Given the description of an element on the screen output the (x, y) to click on. 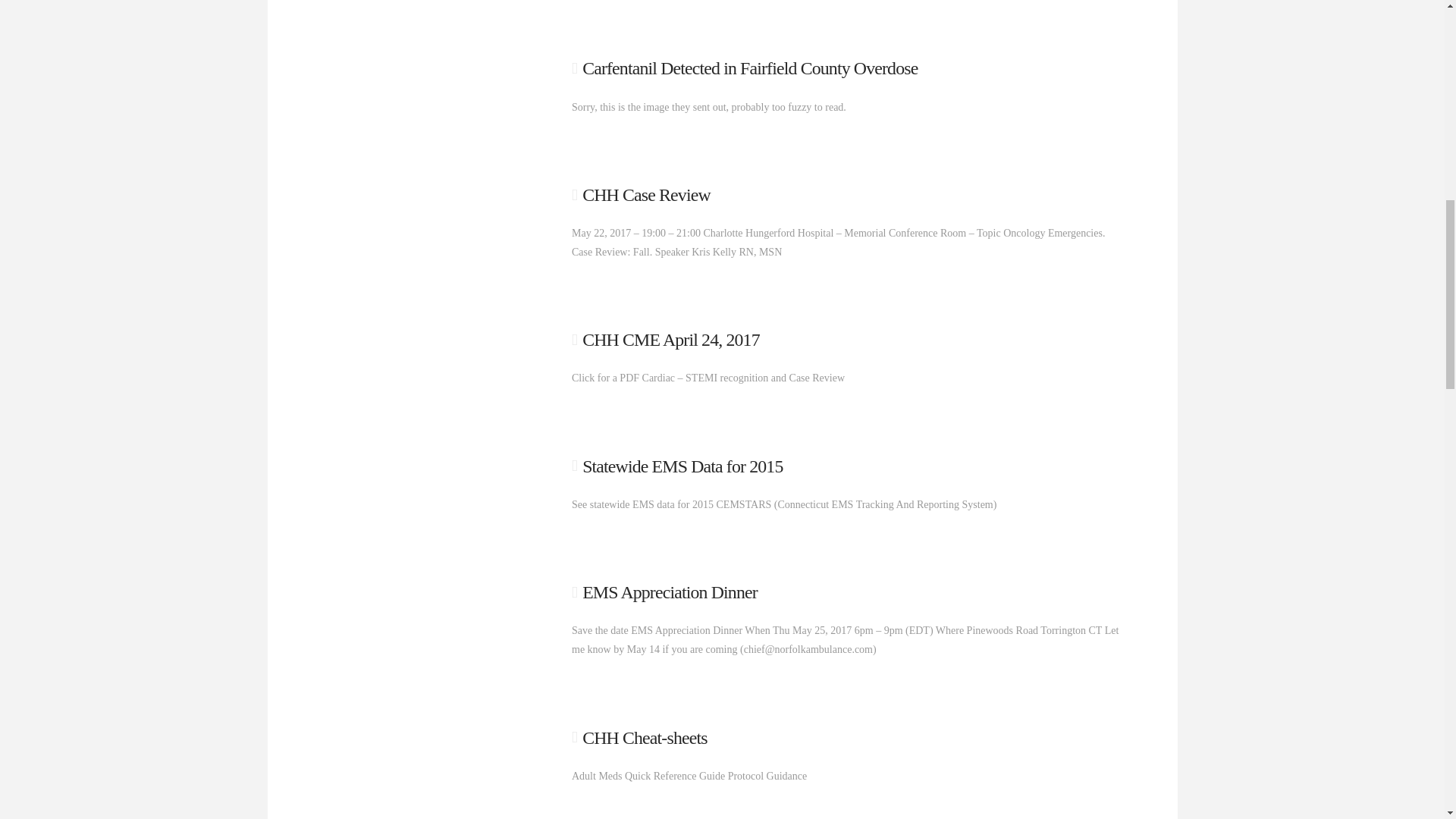
CHH Case Review (646, 194)
Statewide EMS Data for 2015 (682, 465)
Permalink to: "CHH Cheat-sheets" (644, 737)
Permalink to: "CHH Case Review" (646, 194)
Carfentanil Detected in Fairfield County Overdose (749, 67)
CHH Cheat-sheets (644, 737)
Permalink to: "CHH CME April 24, 2017" (671, 339)
Permalink to: "EMS Appreciation Dinner" (669, 591)
CHH CME April 24, 2017 (671, 339)
